Given the description of an element on the screen output the (x, y) to click on. 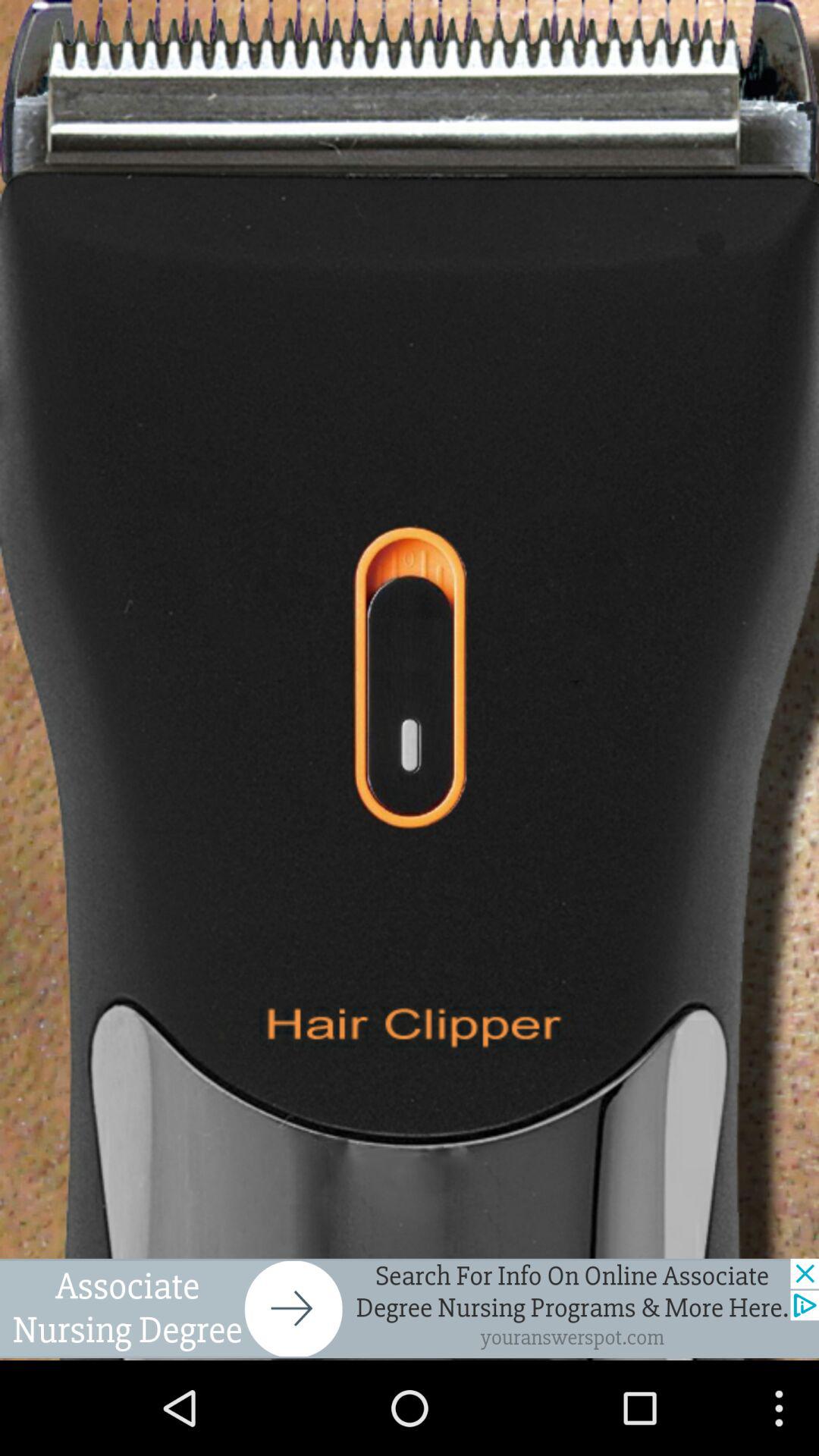
turn on hair clipper (409, 679)
